Given the description of an element on the screen output the (x, y) to click on. 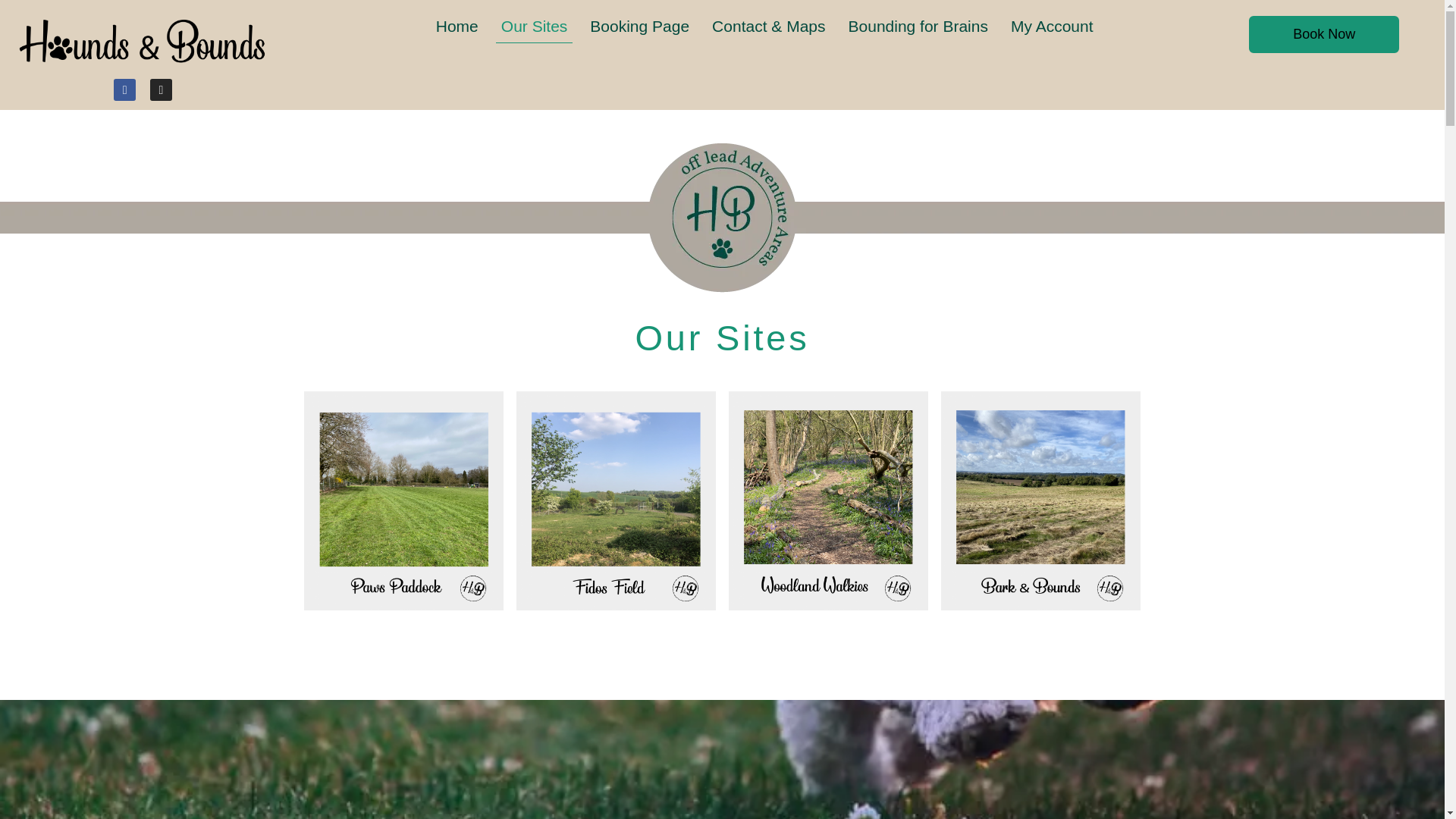
Instagram (160, 89)
Book Now (1324, 33)
Facebook (124, 89)
Our Sites (534, 26)
My Account (1052, 26)
Bounding for Brains (917, 26)
Home (456, 26)
Booking Page (639, 26)
